Given the description of an element on the screen output the (x, y) to click on. 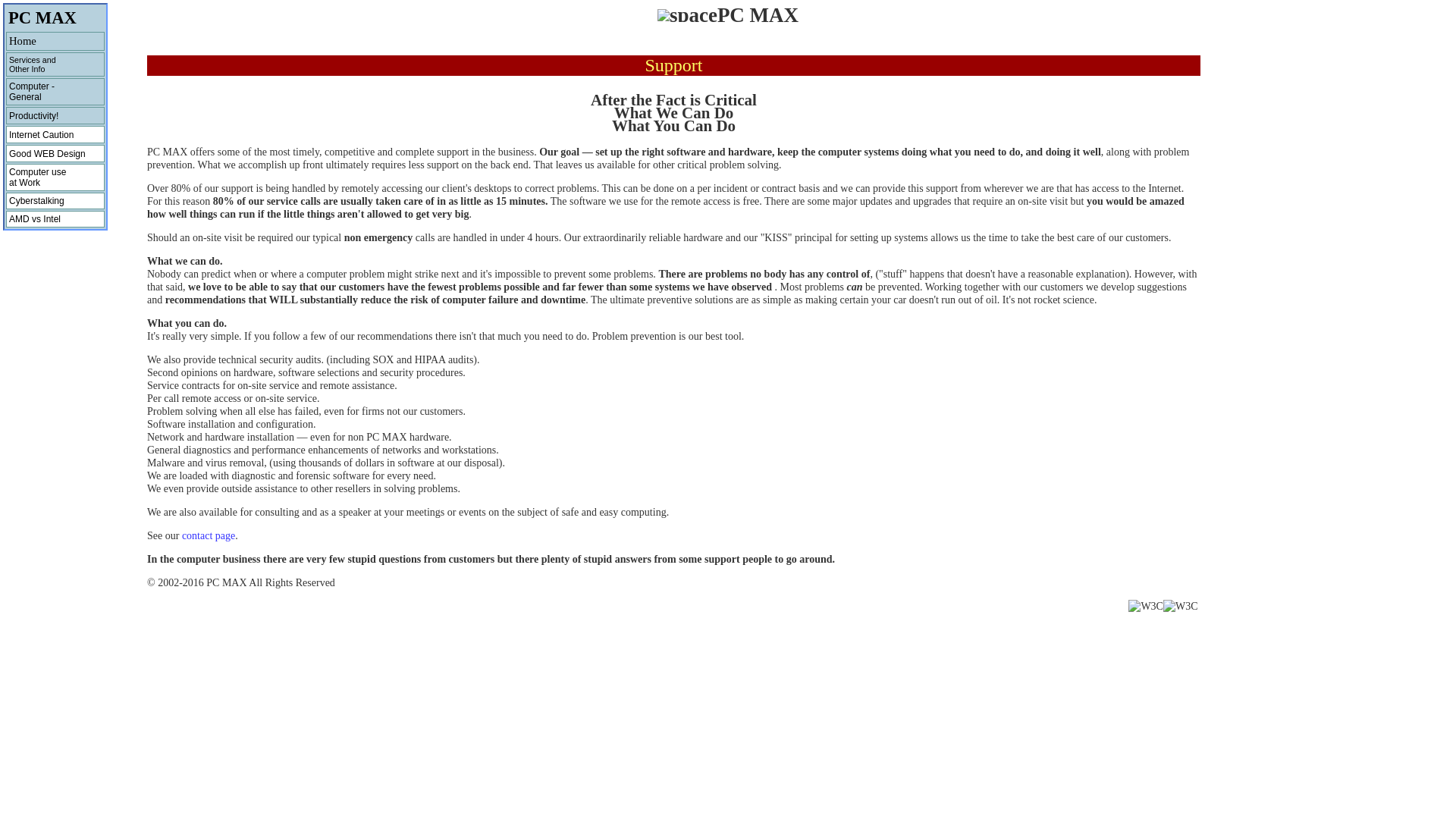
AMD VS Intel (54, 218)
contact page (208, 535)
Cyberstalking (54, 200)
Virus (54, 134)
Productivity (54, 176)
AMD vs Intel (54, 115)
Computer stuff (54, 218)
Internet Caution (54, 91)
Home (54, 134)
